Given the description of an element on the screen output the (x, y) to click on. 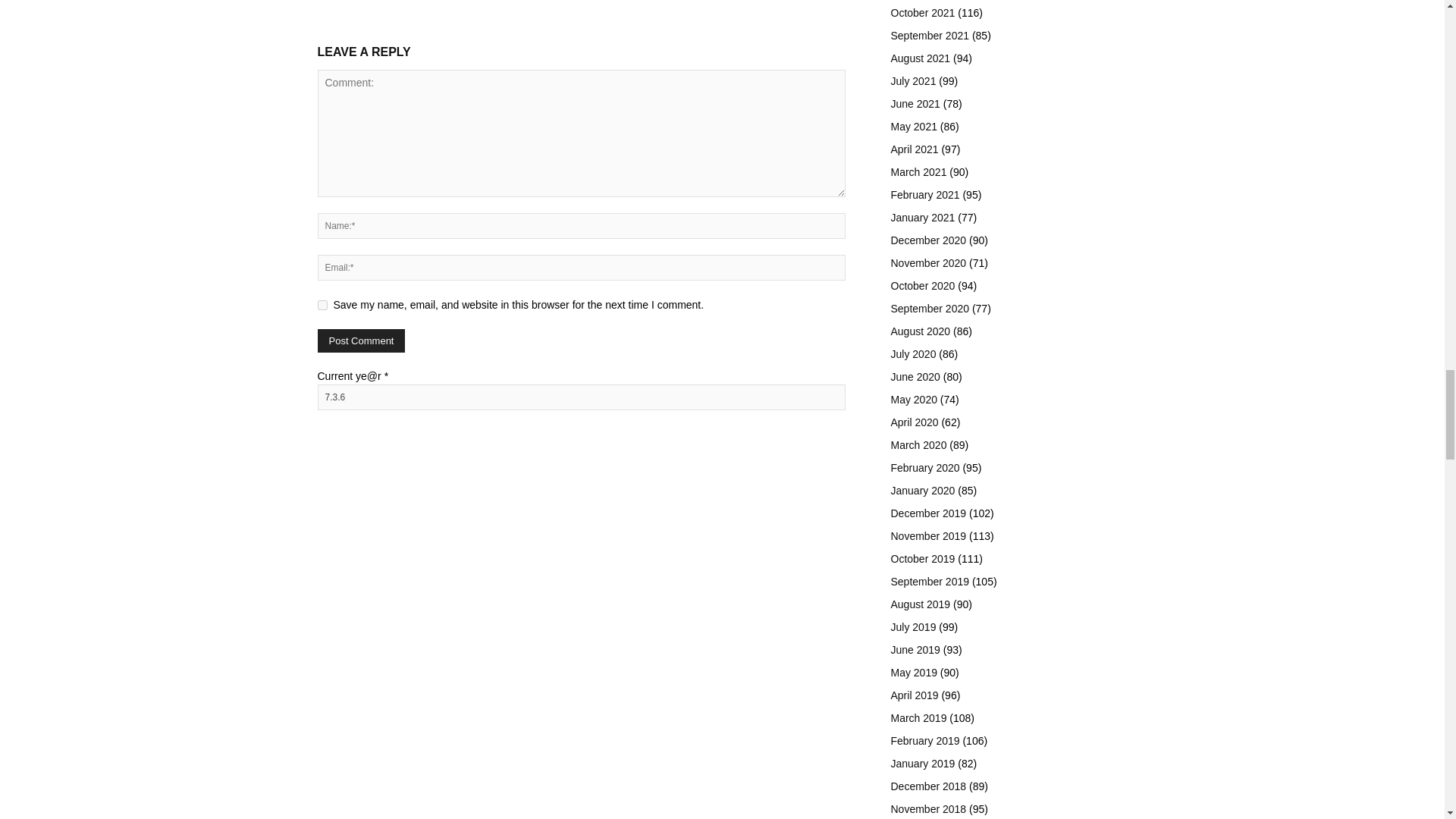
yes (321, 305)
7.3.6 (580, 397)
Post Comment (360, 340)
